Given the description of an element on the screen output the (x, y) to click on. 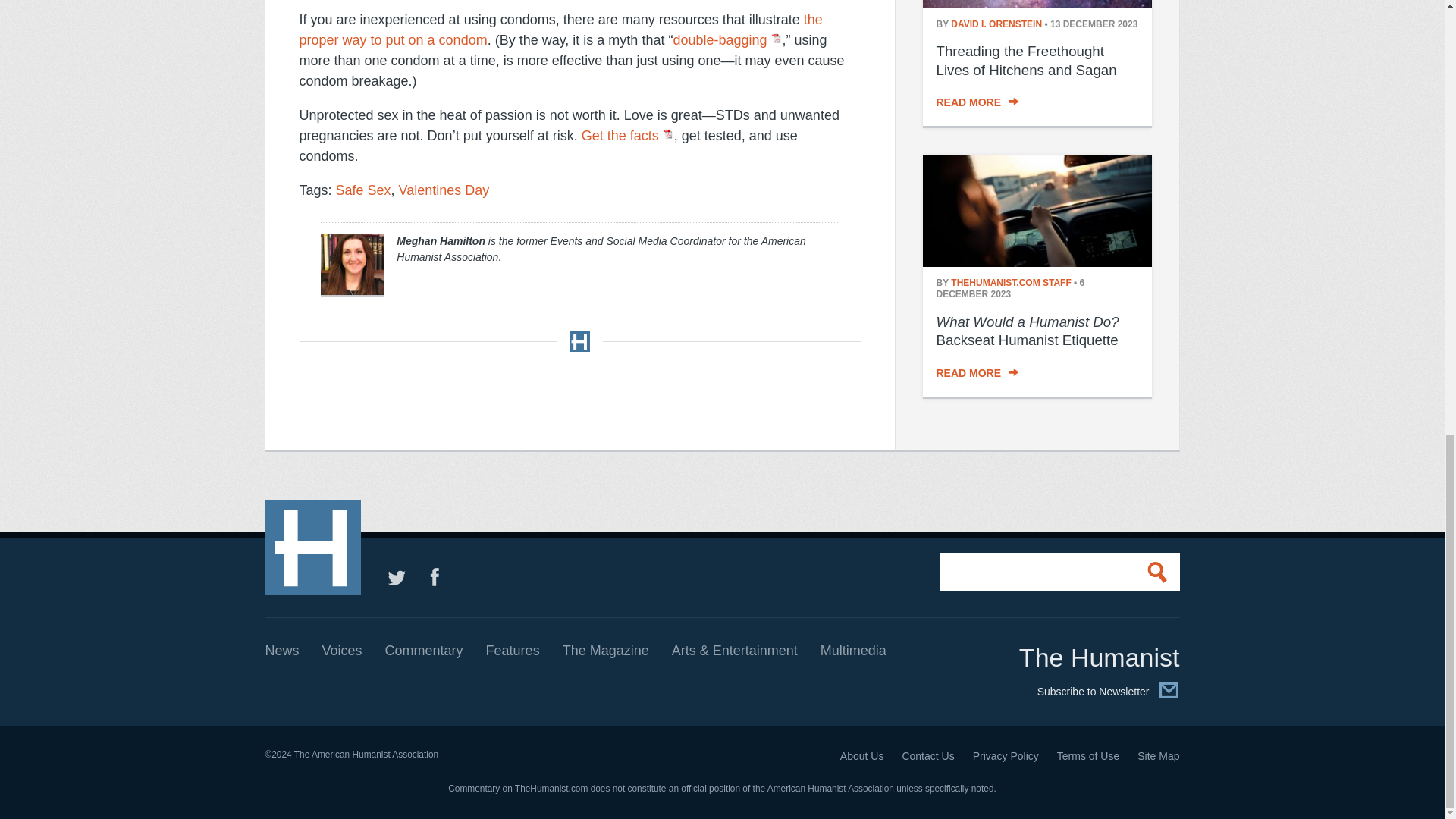
Threading the Freethought Lives of Hitchens and Sagan (1026, 60)
Search (1160, 571)
Threading the Freethought Lives of Hitchens and Sagan (1036, 5)
Search (1160, 571)
